Given the description of an element on the screen output the (x, y) to click on. 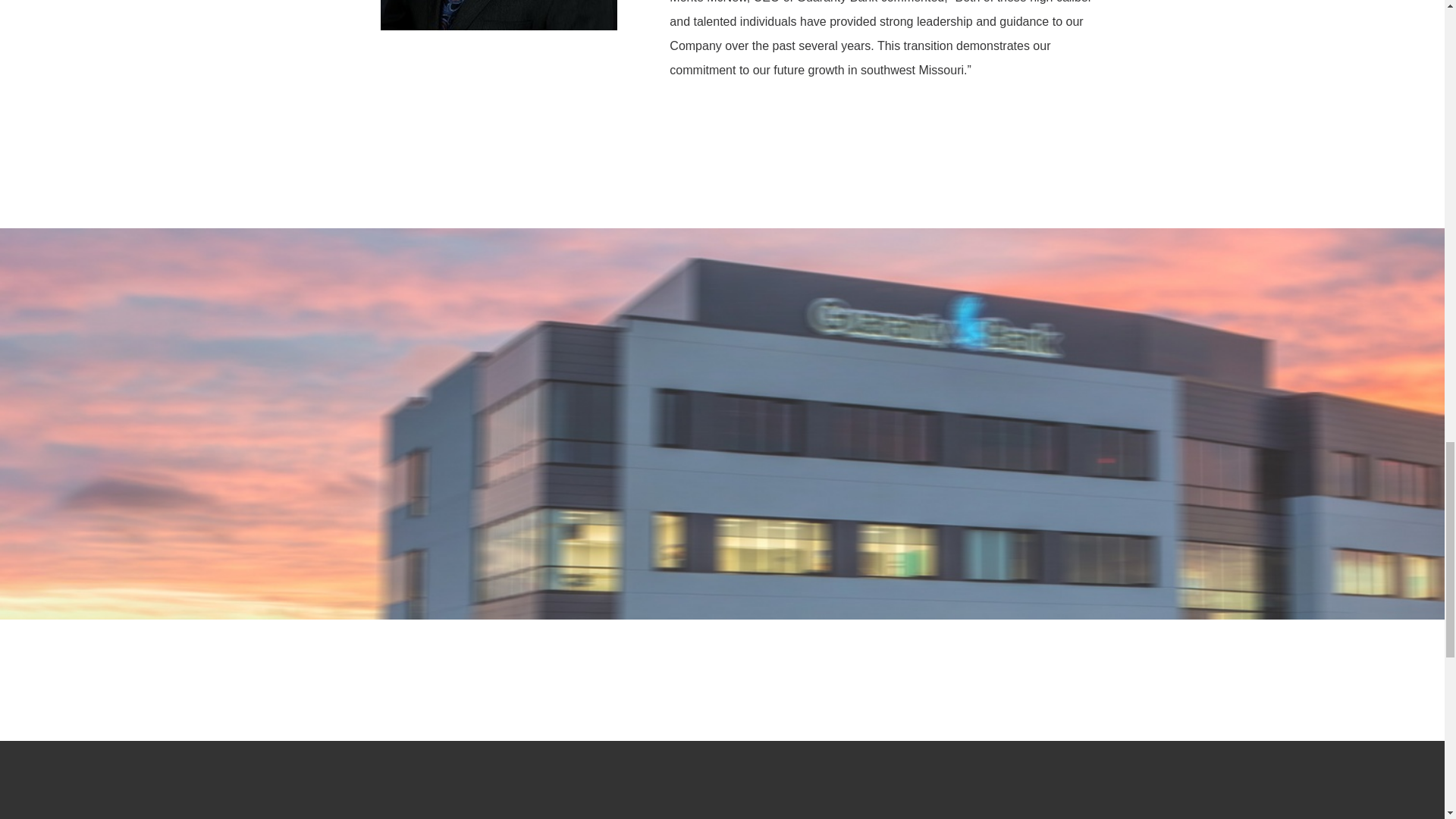
Jim Batton (498, 15)
